Given the description of an element on the screen output the (x, y) to click on. 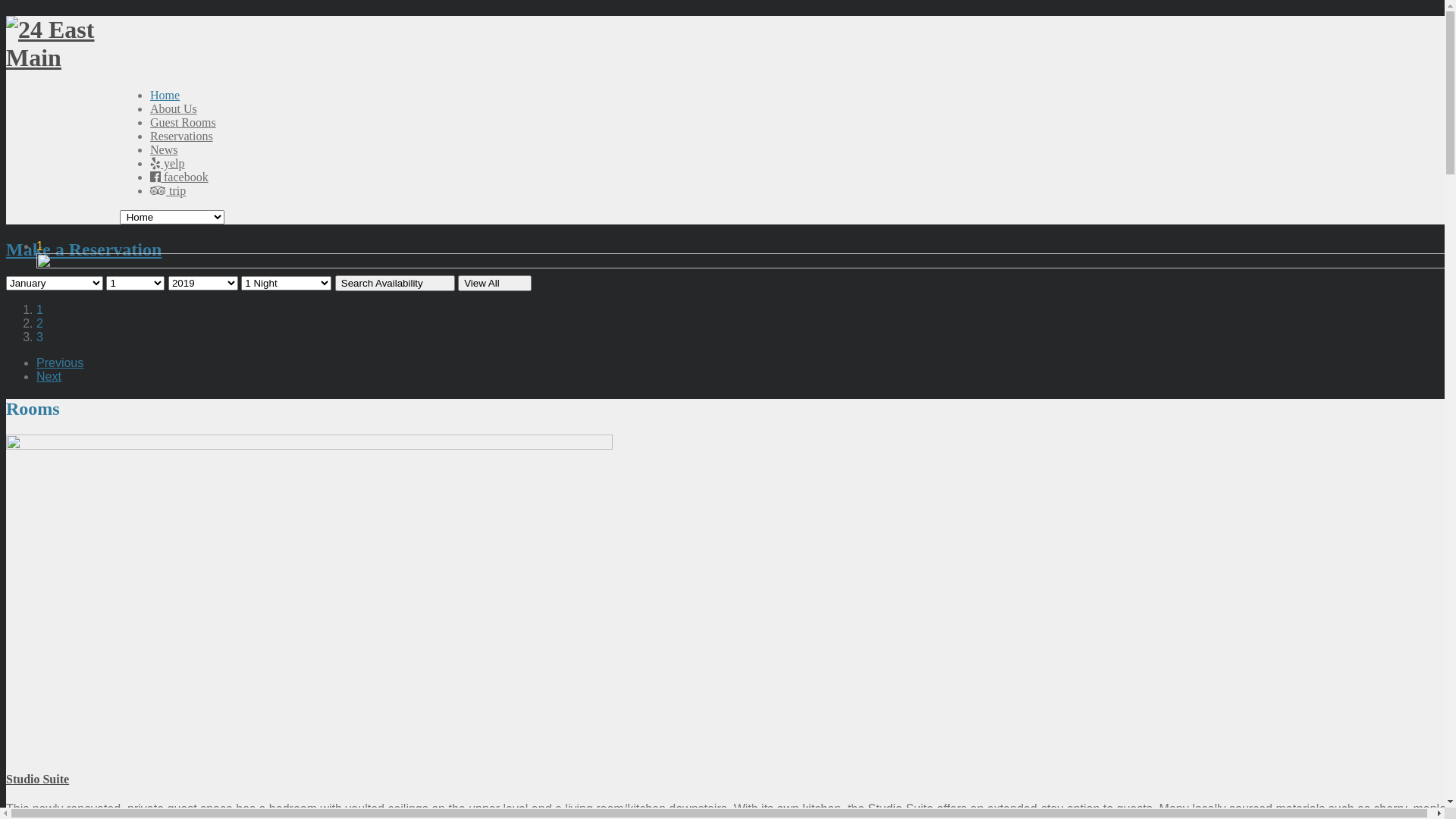
Next Element type: text (48, 376)
Make a Reservation Element type: text (370, 249)
yelp Element type: text (167, 162)
Search Availability Element type: text (395, 283)
2 Element type: text (39, 322)
News Element type: text (163, 149)
Previous Element type: text (59, 362)
Guest Rooms Element type: text (183, 122)
1 Element type: text (39, 309)
3 Element type: text (39, 336)
24 East Main Element type: hover (62, 57)
View All Element type: text (494, 283)
Home Element type: text (164, 94)
trip Element type: text (167, 190)
Reservations Element type: text (181, 135)
Studio Suite Element type: text (37, 778)
facebook Element type: text (179, 176)
About Us Element type: text (173, 108)
